Given the description of an element on the screen output the (x, y) to click on. 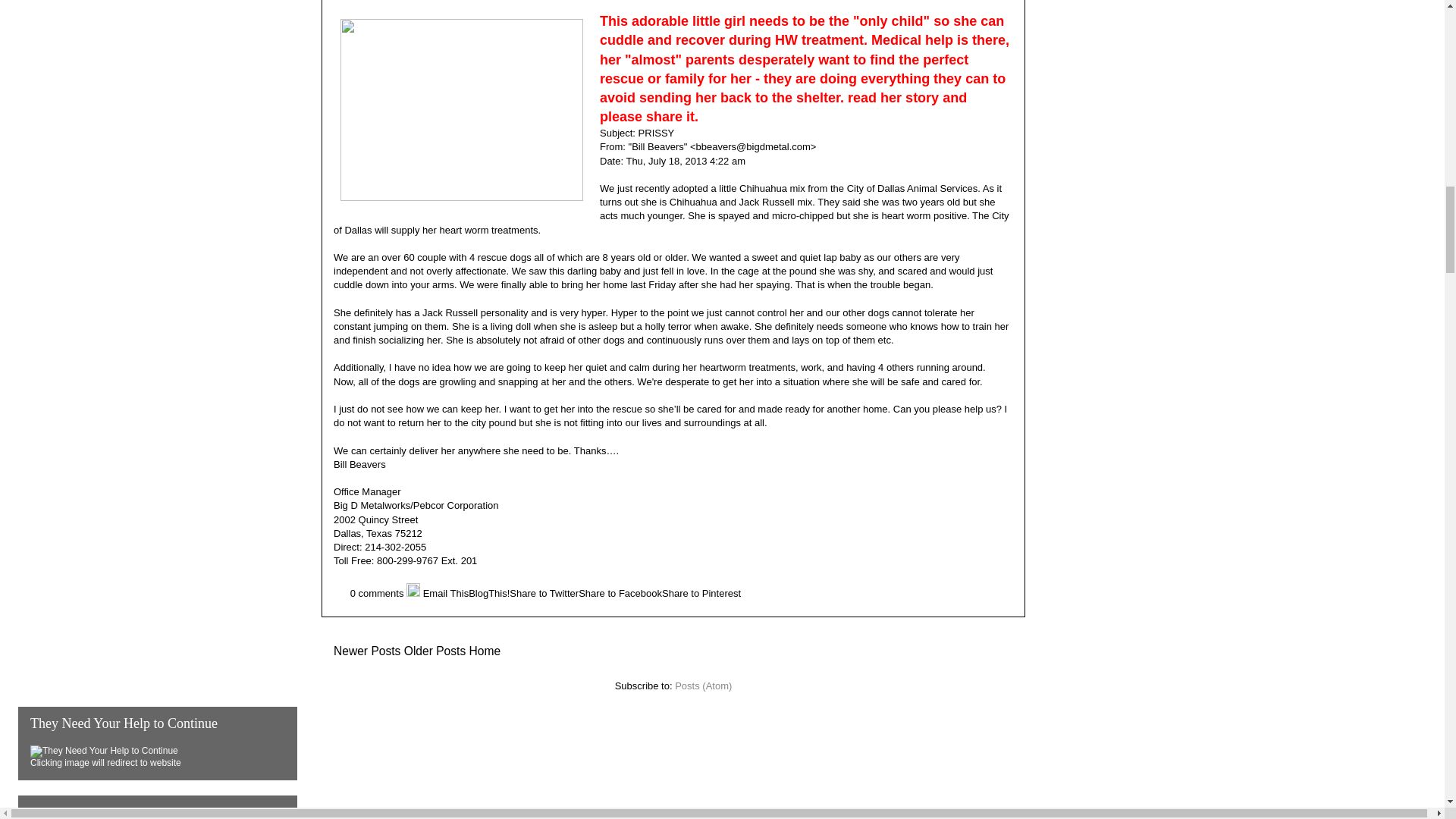
Share to Pinterest (701, 593)
Email Post (341, 593)
Email This (445, 593)
Email This (445, 593)
Share to Pinterest (701, 593)
0 comments (377, 593)
BlogThis! (488, 593)
Older Posts (434, 650)
Share to Twitter (543, 593)
Edit Post (414, 593)
Newer Posts (366, 650)
Home (484, 650)
BlogThis! (488, 593)
Share to Facebook (620, 593)
Share to Twitter (543, 593)
